Given the description of an element on the screen output the (x, y) to click on. 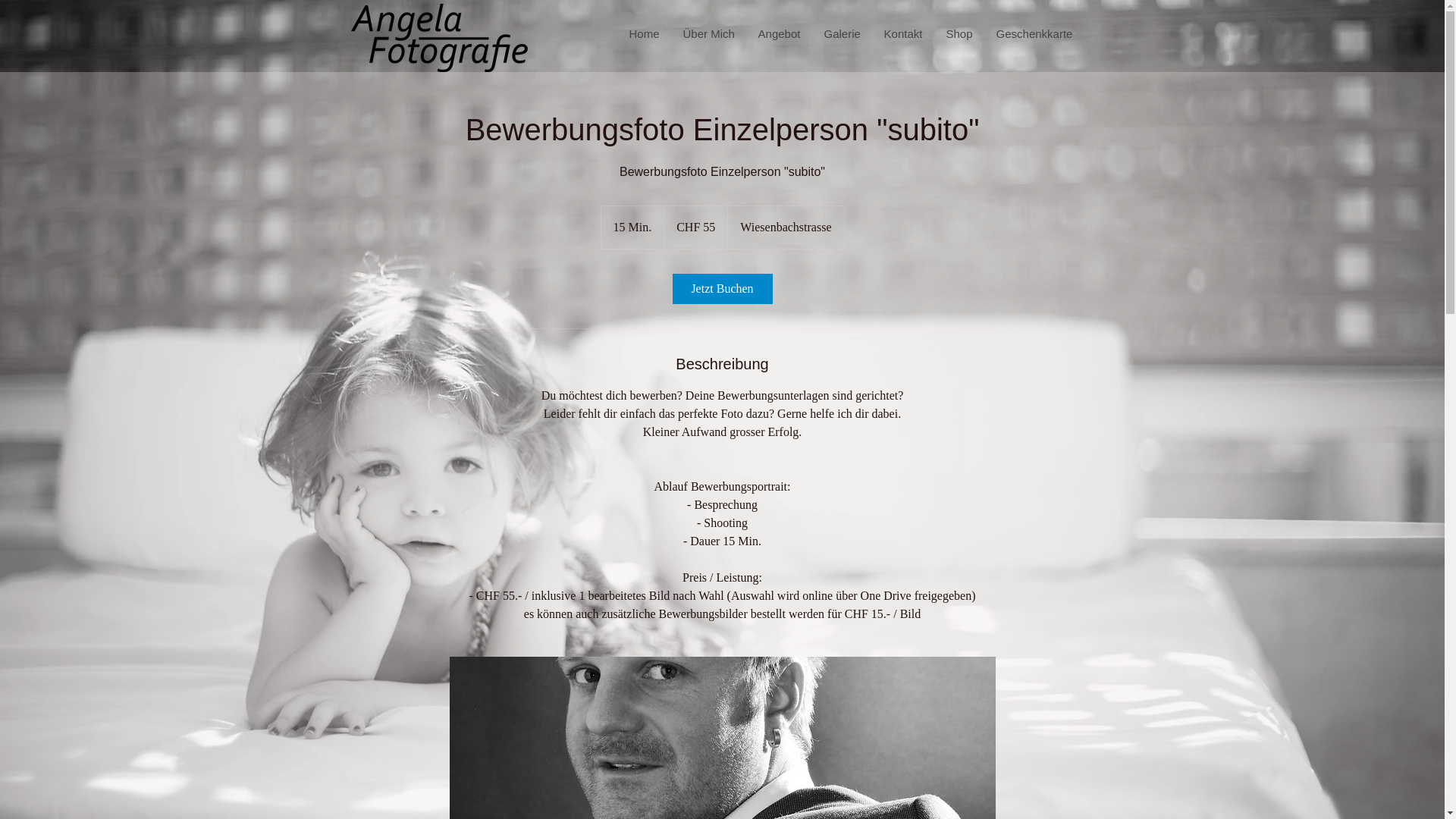
Shop Element type: text (959, 34)
Angebot Element type: text (779, 34)
Galerie Element type: text (841, 34)
Kontakt Element type: text (903, 34)
Home Element type: text (644, 34)
Jetzt Buchen Element type: text (721, 288)
Geschenkkarte Element type: text (1034, 34)
